Given the description of an element on the screen output the (x, y) to click on. 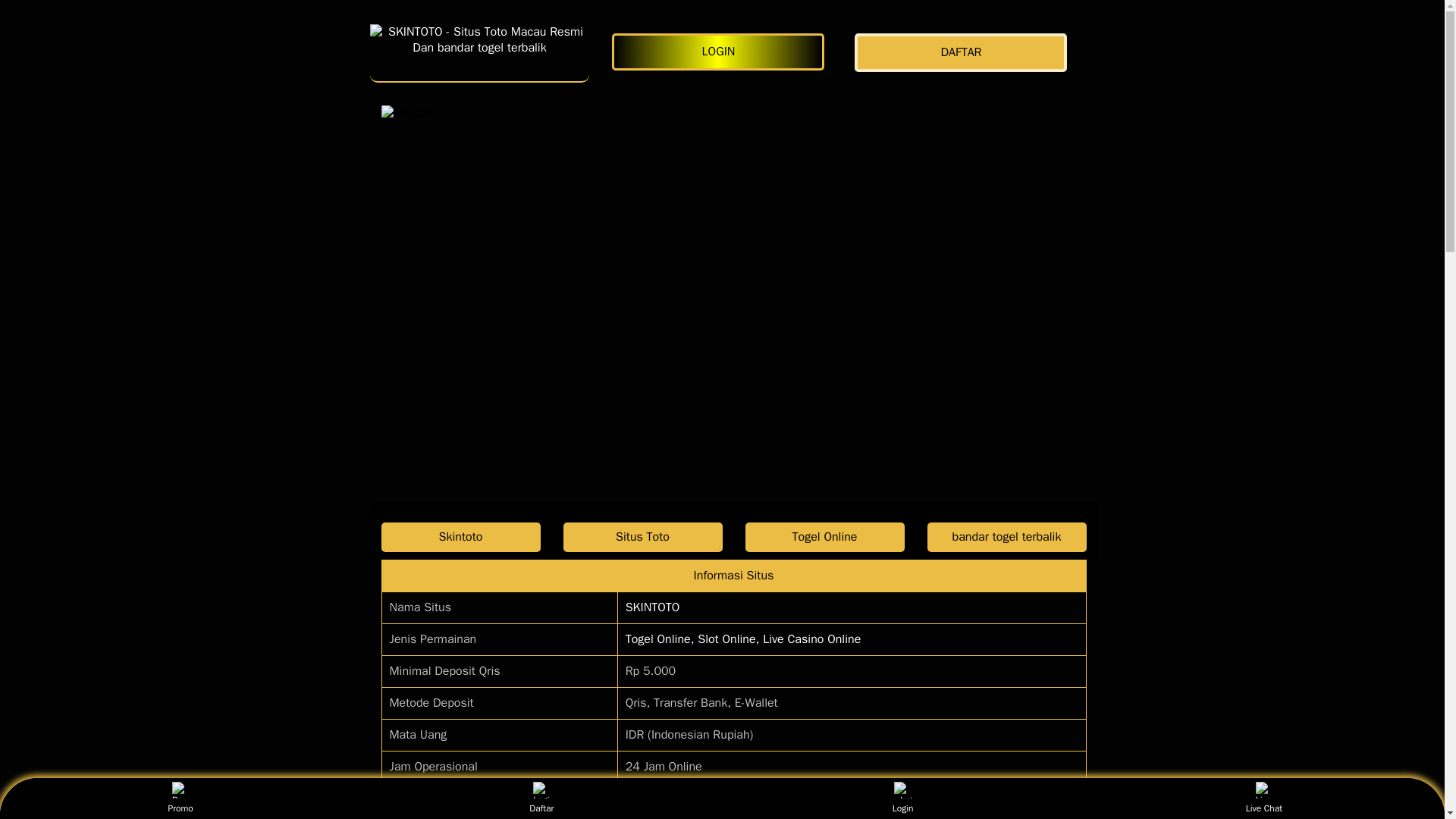
skintoto (460, 537)
Skintoto (460, 537)
Login (903, 797)
Togel Online (824, 537)
Togel Online, Slot Online, Live Casino Online (743, 639)
Live Chat (1263, 797)
Situs Toto (642, 537)
SKINTOTO (652, 607)
bandar togel terbalik dibayar (1006, 537)
LOGIN (721, 51)
